Given the description of an element on the screen output the (x, y) to click on. 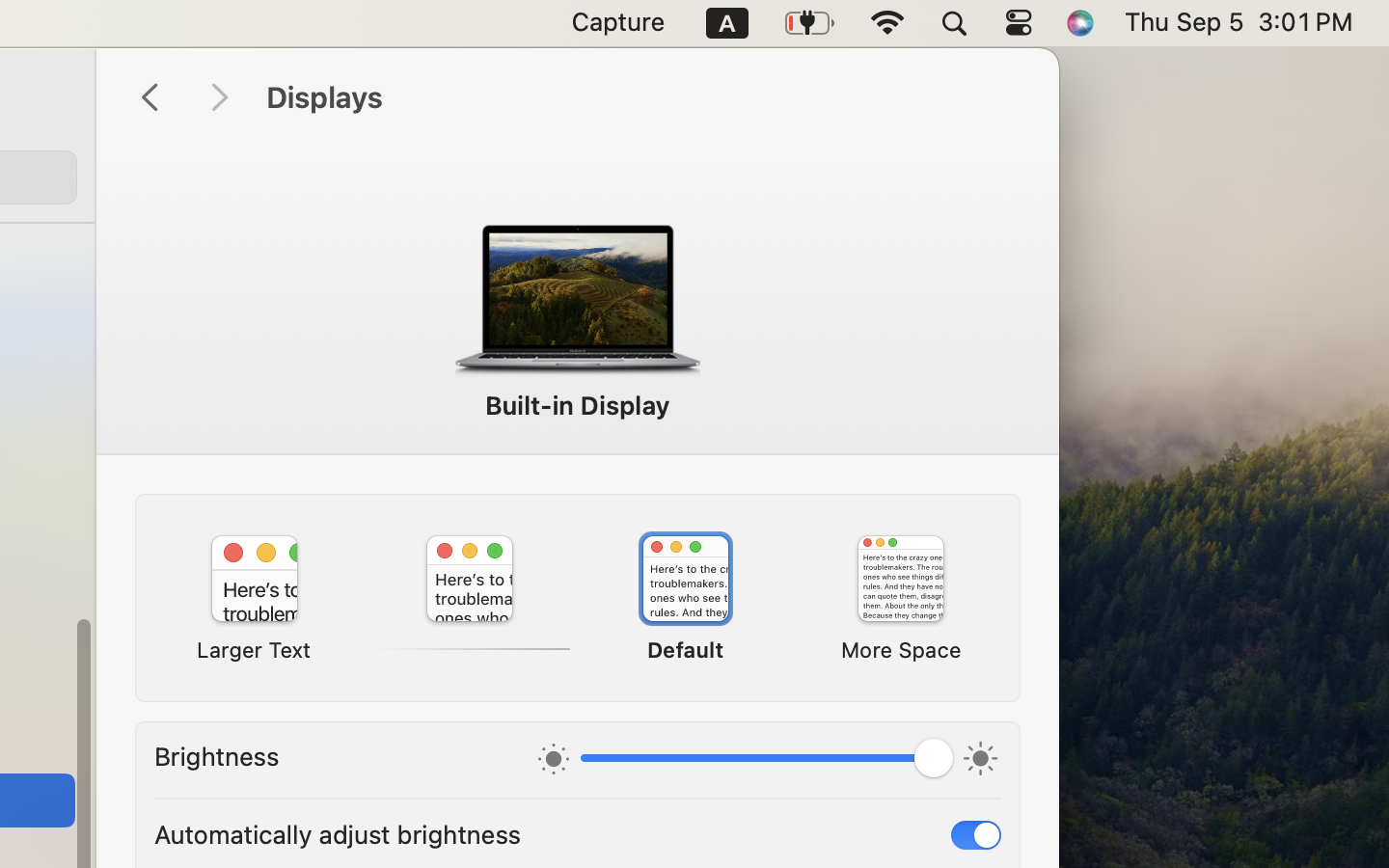
Automatically adjust brightness Element type: AXStaticText (337, 832)
Displays Element type: AXStaticText (642, 98)
1.0 Element type: AXSlider (766, 761)
Brightness Element type: AXStaticText (216, 755)
